Given the description of an element on the screen output the (x, y) to click on. 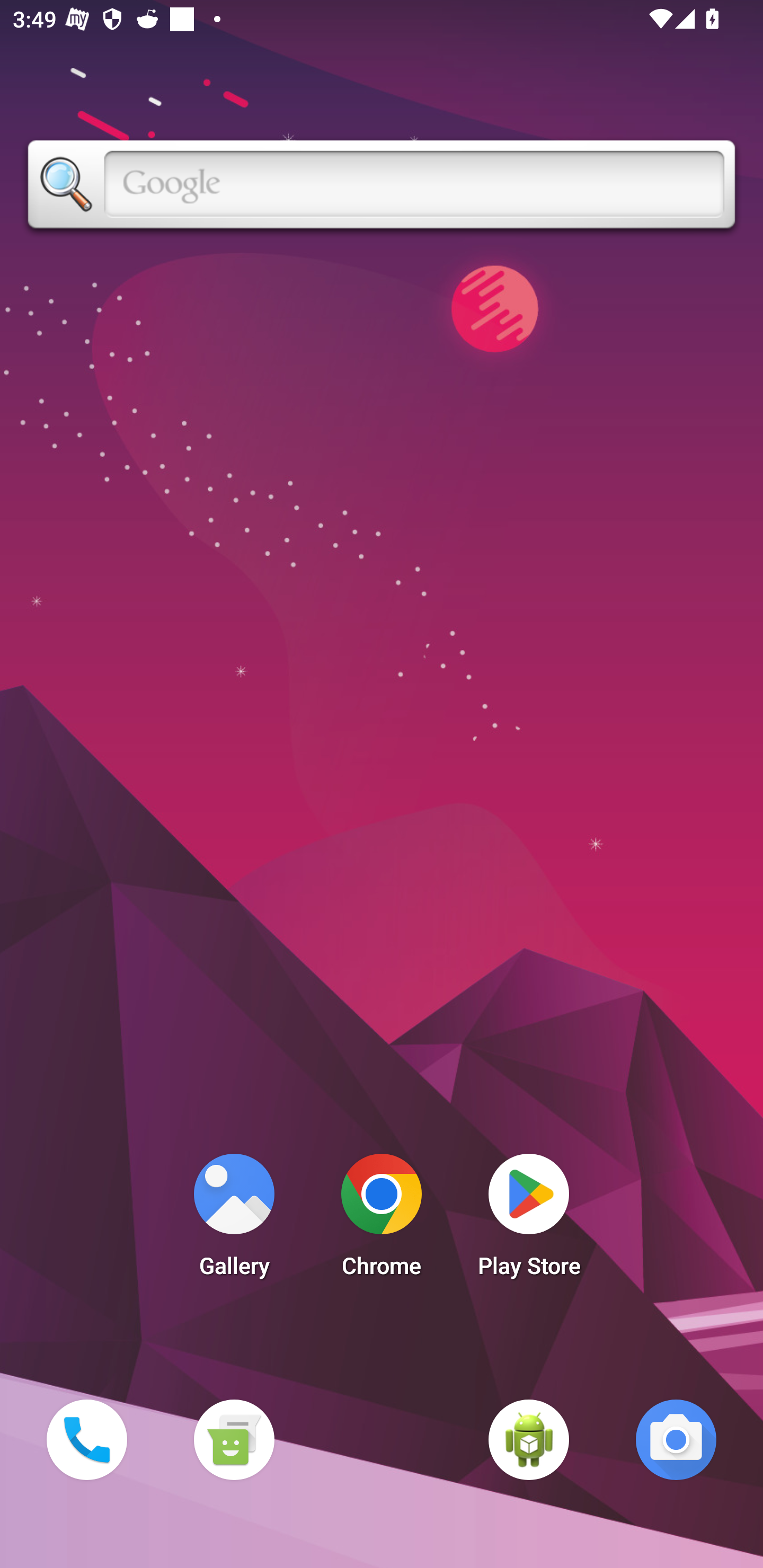
Gallery (233, 1220)
Chrome (381, 1220)
Play Store (528, 1220)
Phone (86, 1439)
Messaging (233, 1439)
WebView Browser Tester (528, 1439)
Camera (676, 1439)
